Given the description of an element on the screen output the (x, y) to click on. 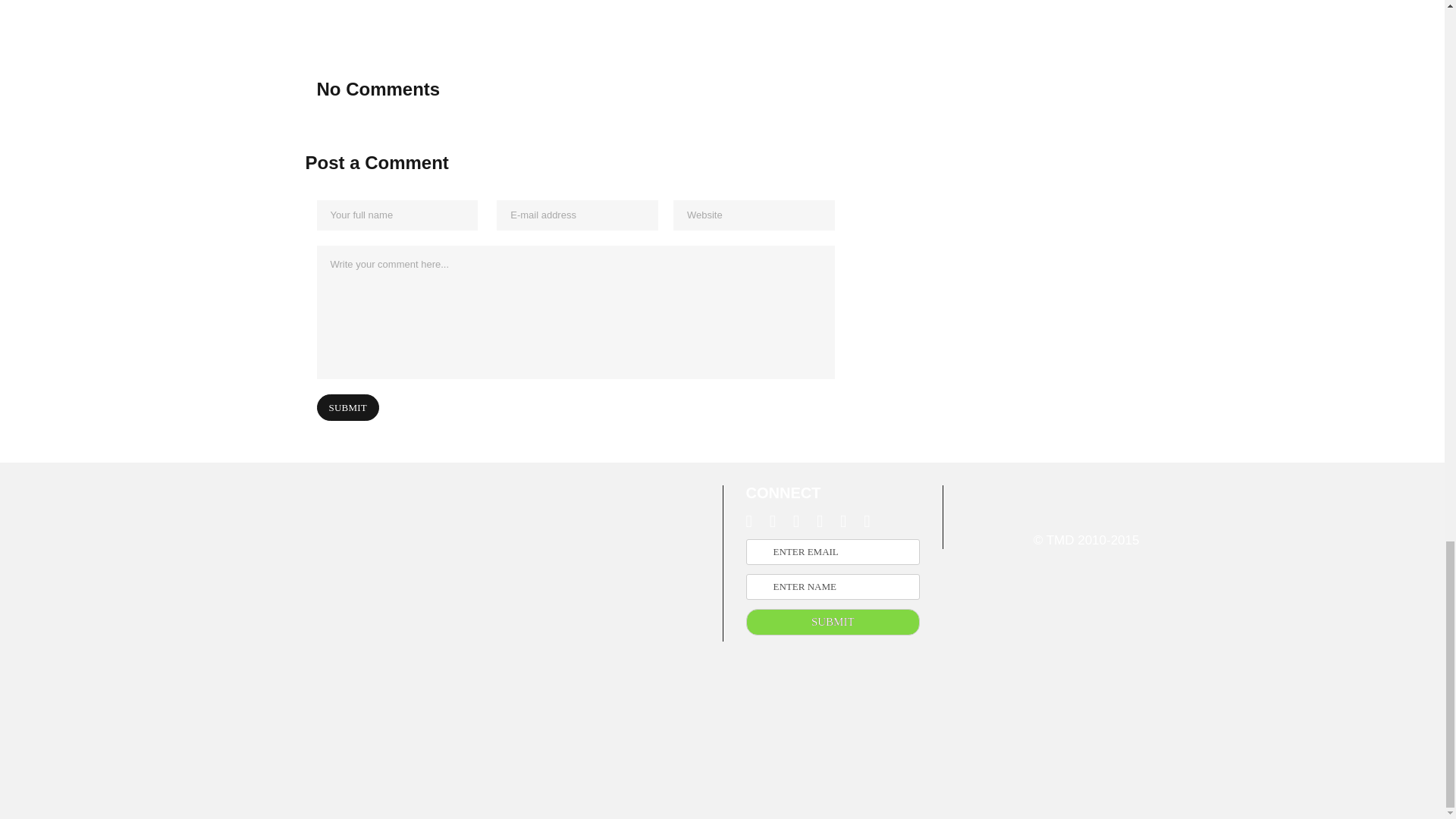
ENTER NAME (832, 586)
SUBMIT (832, 622)
ENTER EMAIL (832, 551)
Submit (347, 406)
